Given the description of an element on the screen output the (x, y) to click on. 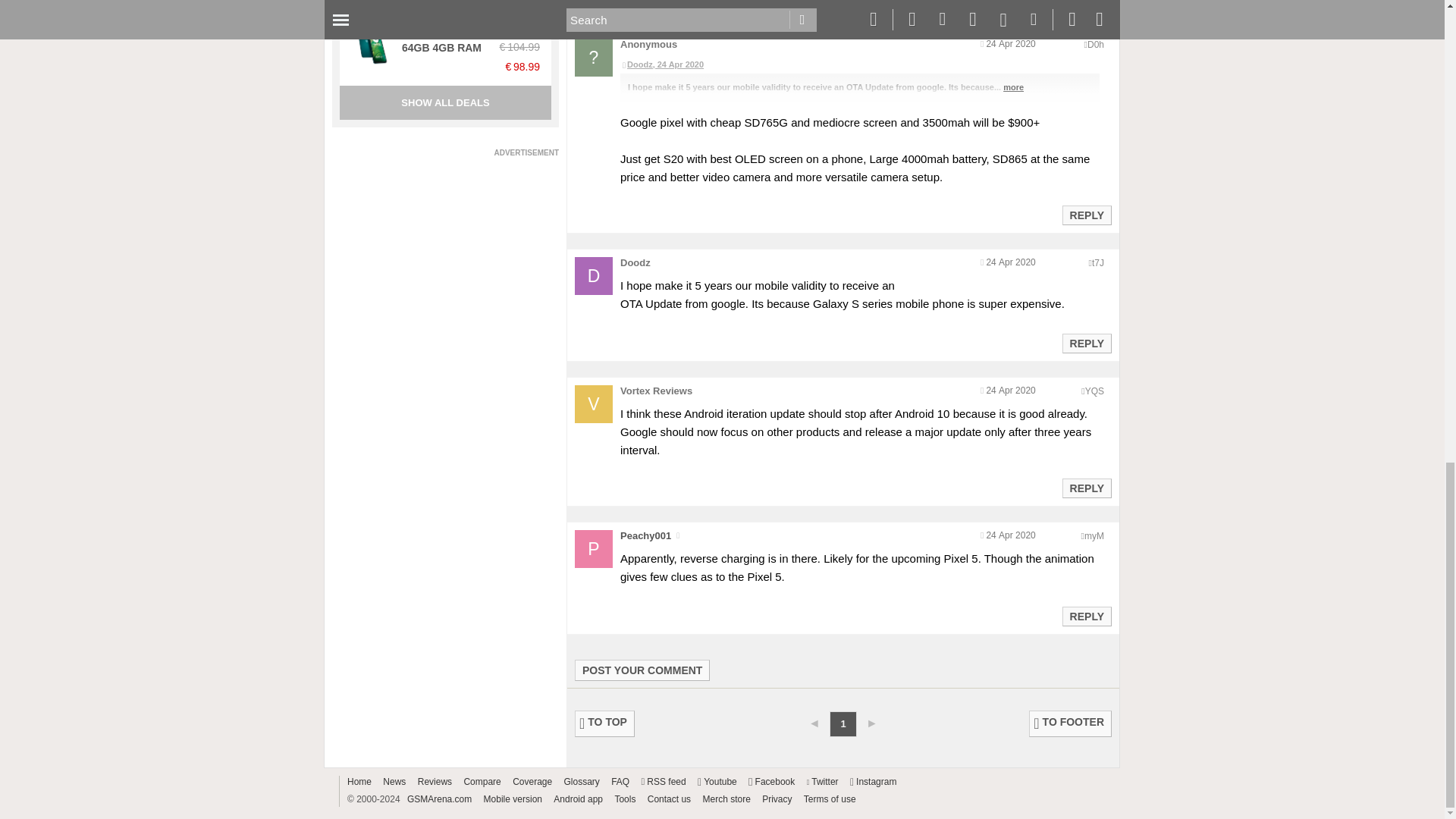
Encoded anonymized location (1093, 390)
Reply to this post (1086, 215)
Reply to this post (1086, 343)
Encoded anonymized location (1093, 535)
Reply to this post (1086, 1)
TO TOP (604, 723)
Encoded anonymized location (1097, 262)
Reply to this post (1086, 616)
Encoded anonymized location (1095, 44)
Reply to this post (1086, 488)
